Given the description of an element on the screen output the (x, y) to click on. 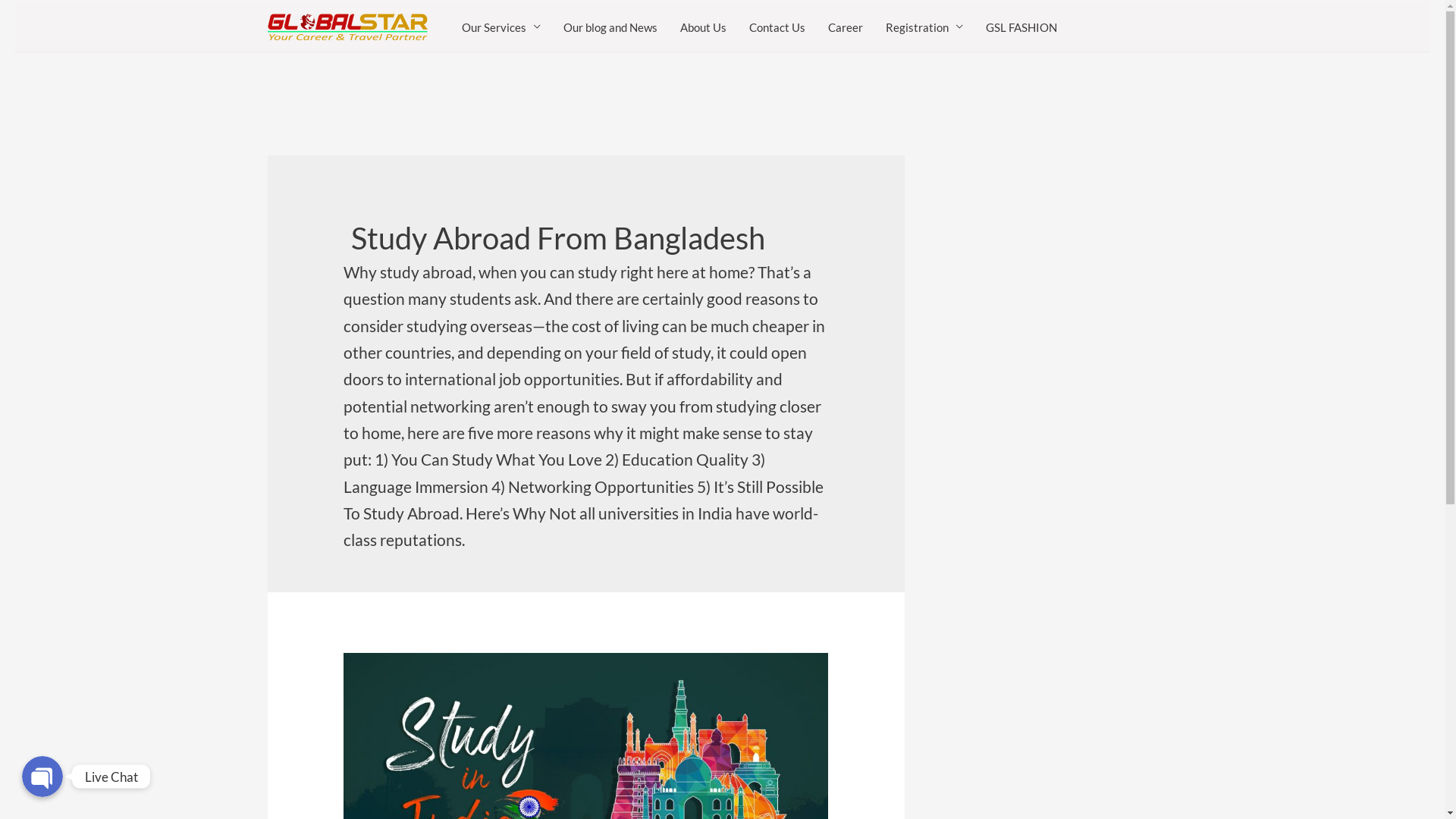
Registration Element type: text (923, 26)
Contact Us Element type: text (776, 26)
GSL FASHION Element type: text (1020, 26)
Our Services Element type: text (501, 26)
Career Element type: text (844, 26)
Our blog and News Element type: text (610, 26)
About Us Element type: text (702, 26)
